Given the description of an element on the screen output the (x, y) to click on. 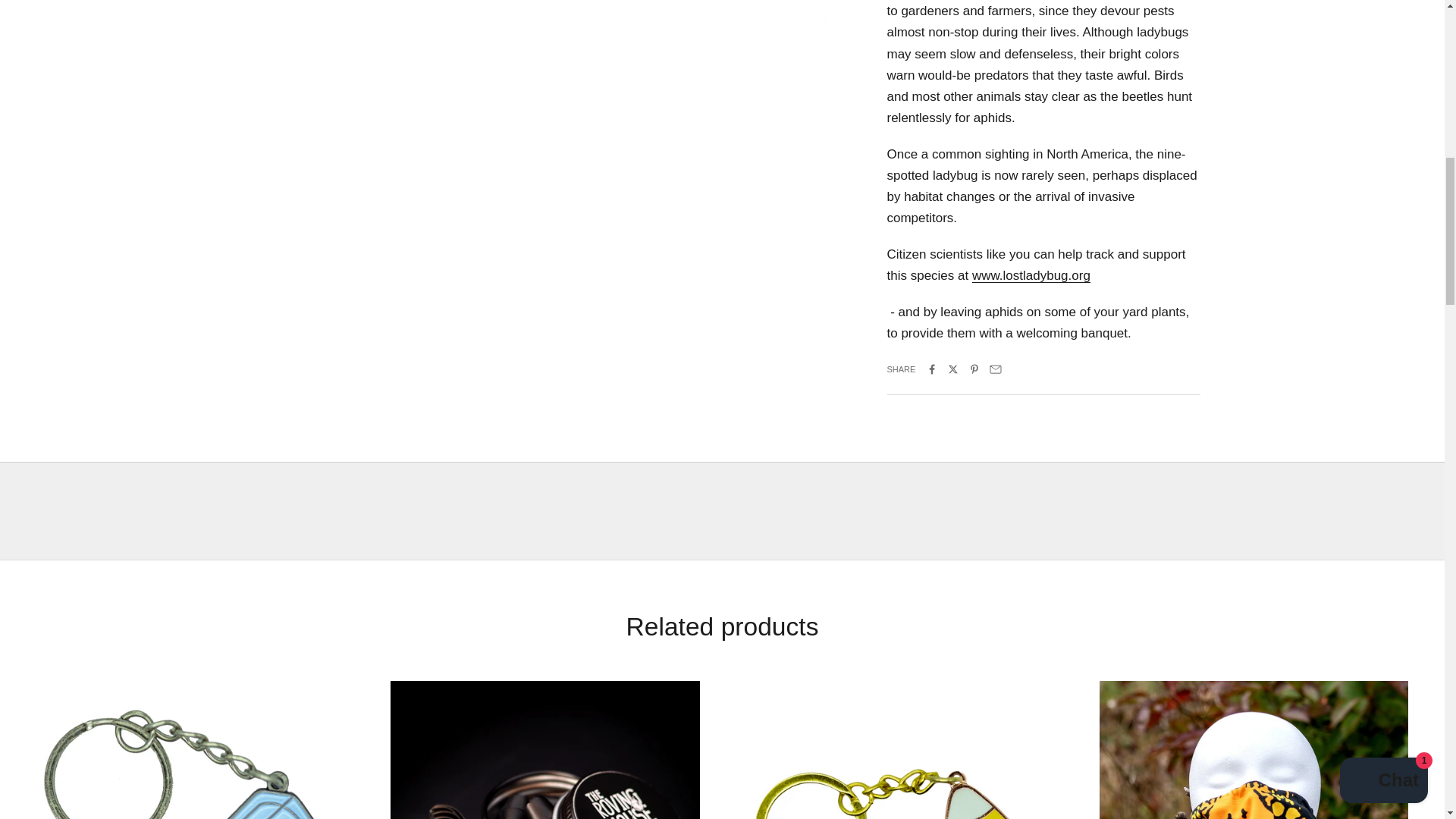
The Lost Ladybug Project (1031, 275)
